Given the description of an element on the screen output the (x, y) to click on. 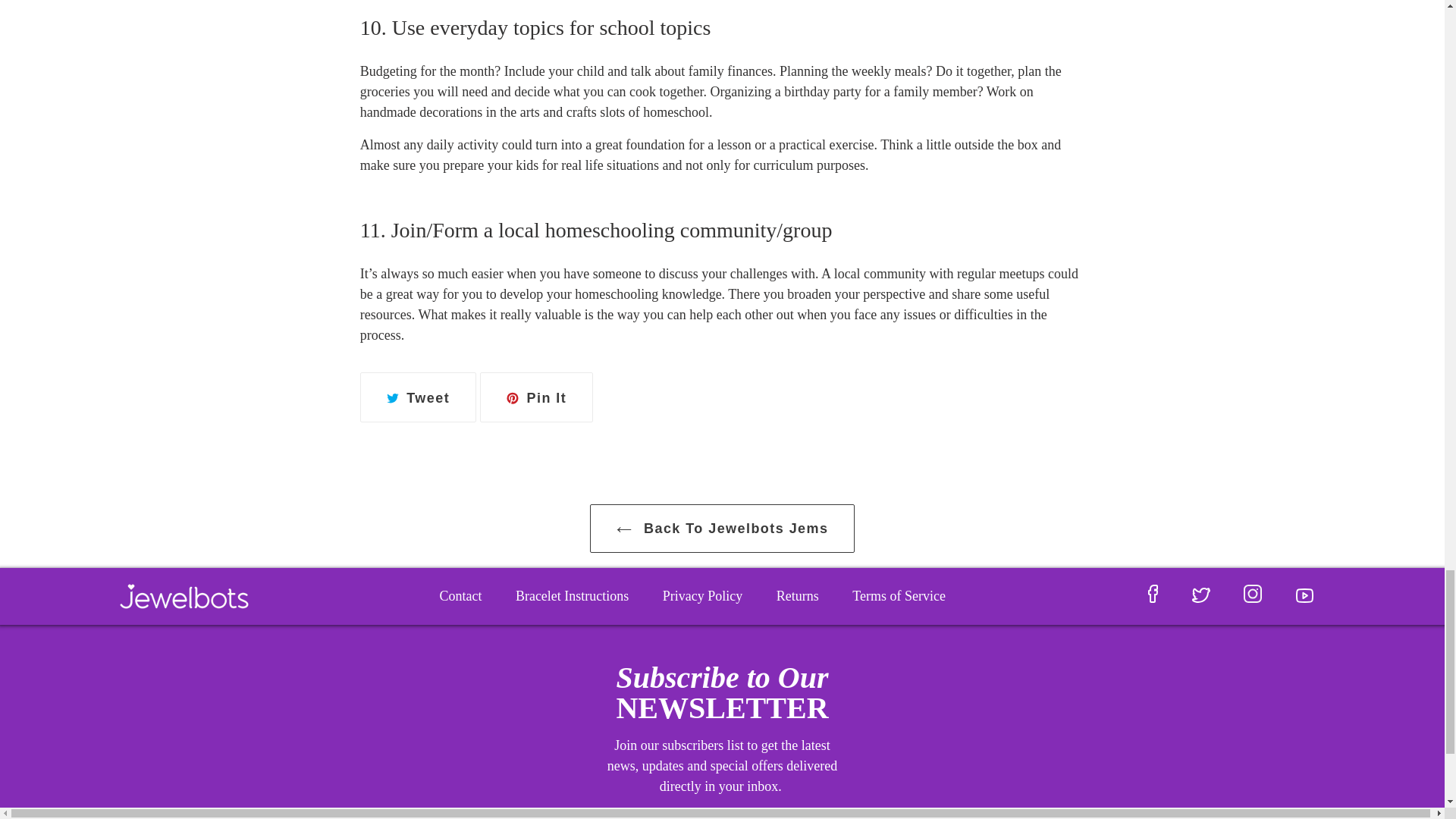
Returns (797, 596)
Contact (536, 396)
Privacy Policy (460, 596)
Back To Jewelbots Jems (702, 596)
Terms of Service (722, 528)
Bracelet Instructions (417, 396)
